Given the description of an element on the screen output the (x, y) to click on. 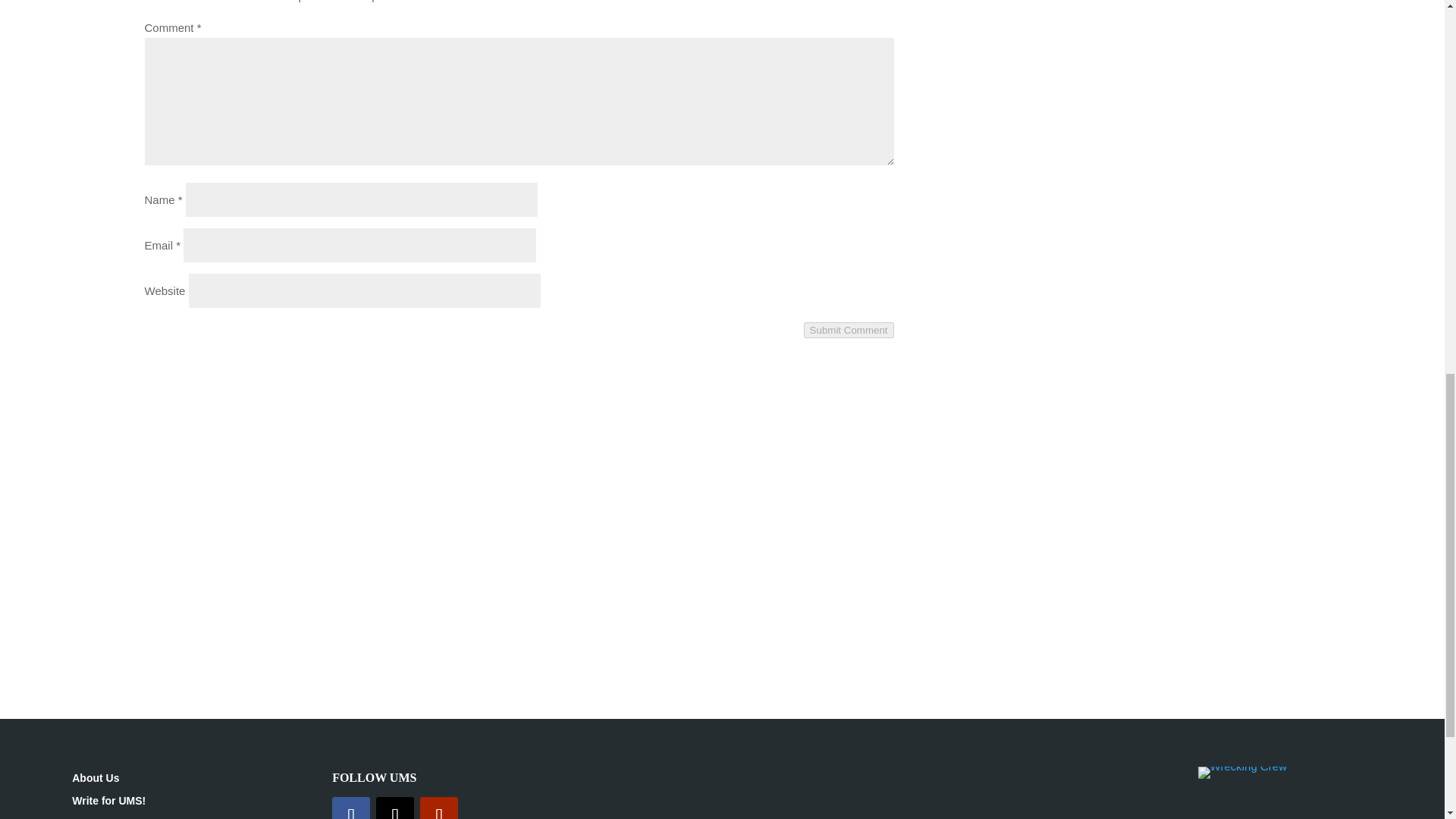
Follow on Facebook (350, 807)
Submit Comment (848, 330)
About Us (95, 781)
Follow on X (394, 807)
Sponsor UMS (106, 818)
wc-logo (1242, 772)
Follow on Youtube (439, 807)
Write for UMS! (108, 803)
